Given the description of an element on the screen output the (x, y) to click on. 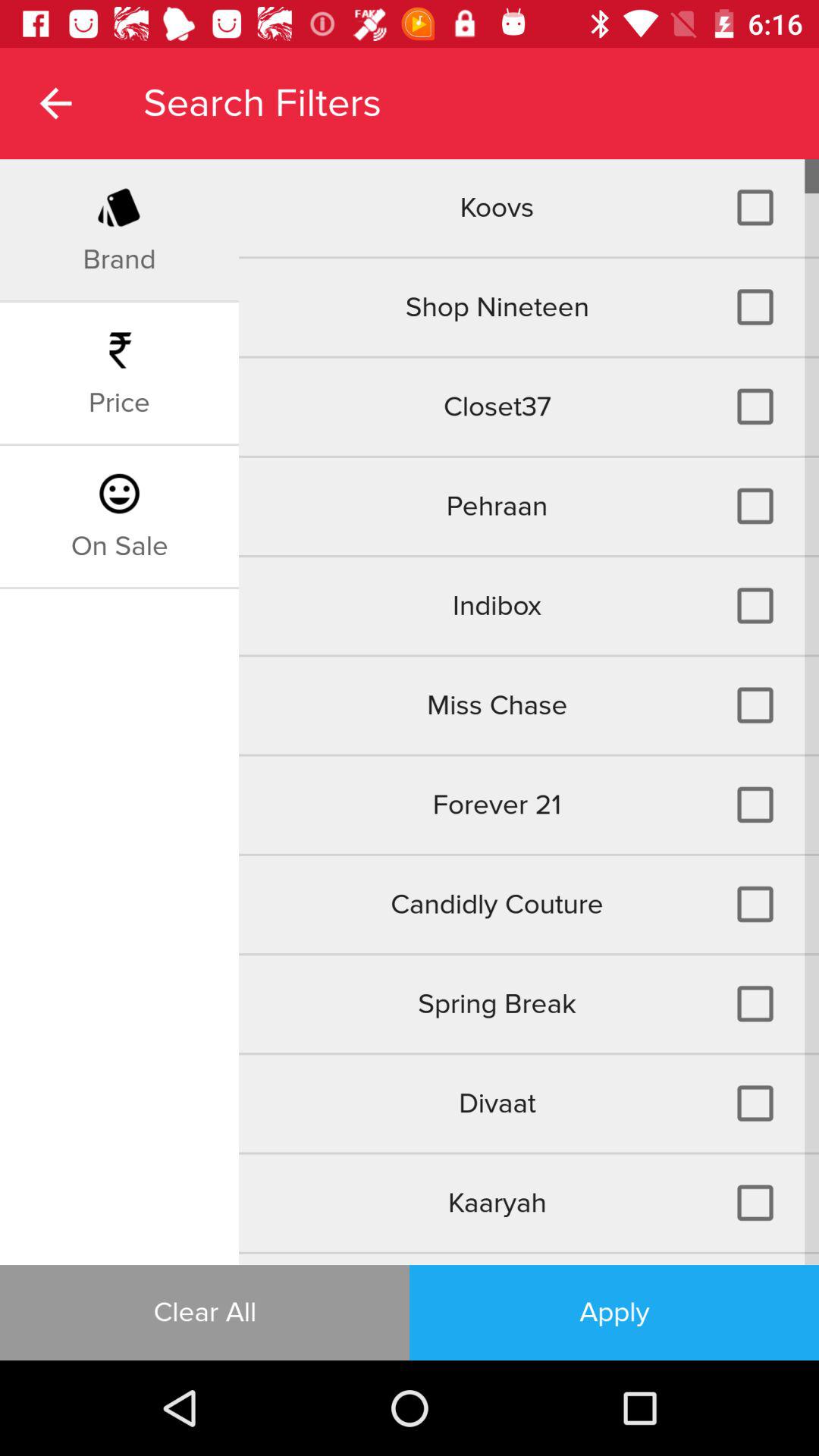
flip until spring break (528, 1003)
